Given the description of an element on the screen output the (x, y) to click on. 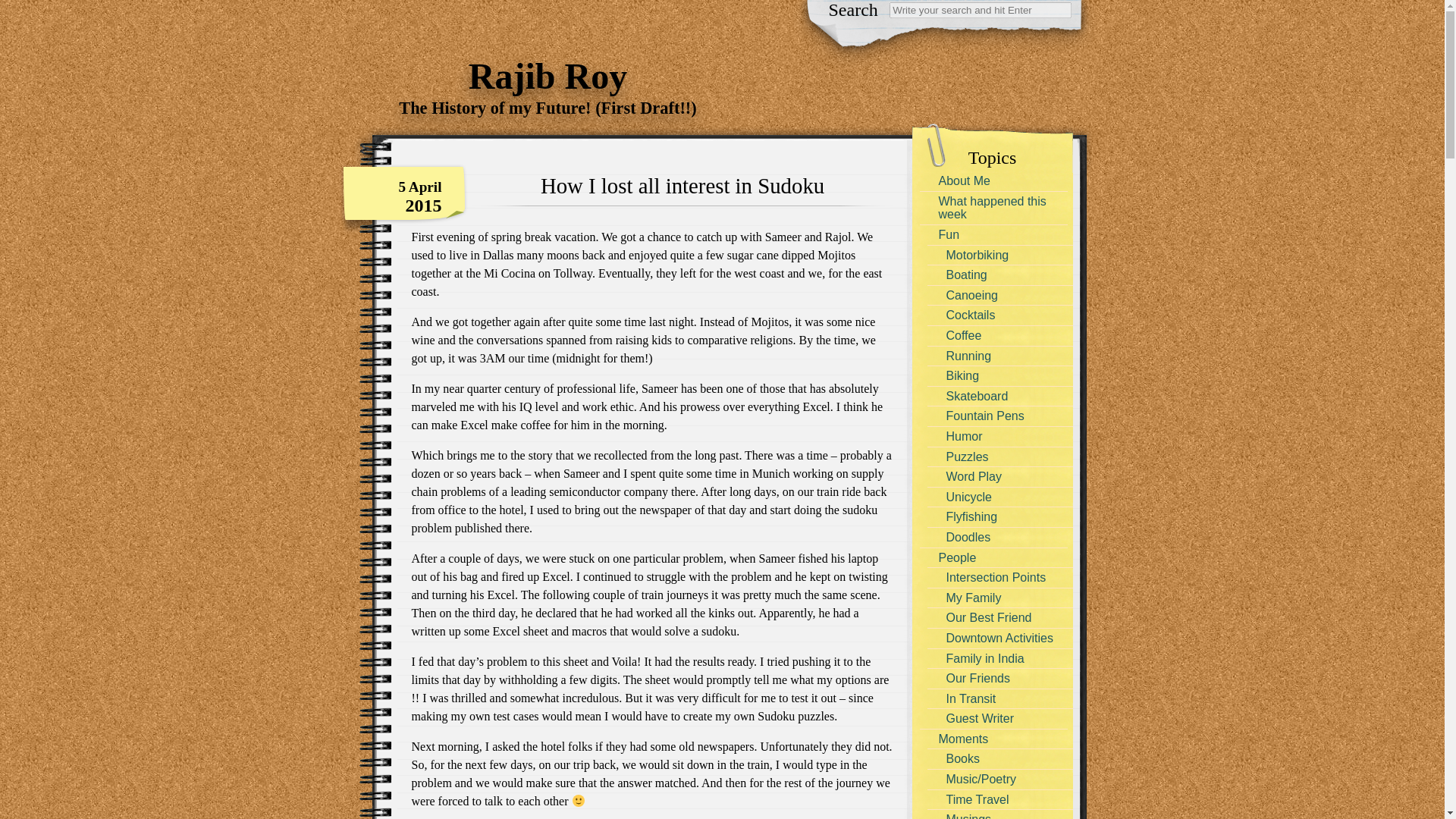
Search (21, 7)
Search (980, 10)
Rajib Roy (547, 67)
